Given the description of an element on the screen output the (x, y) to click on. 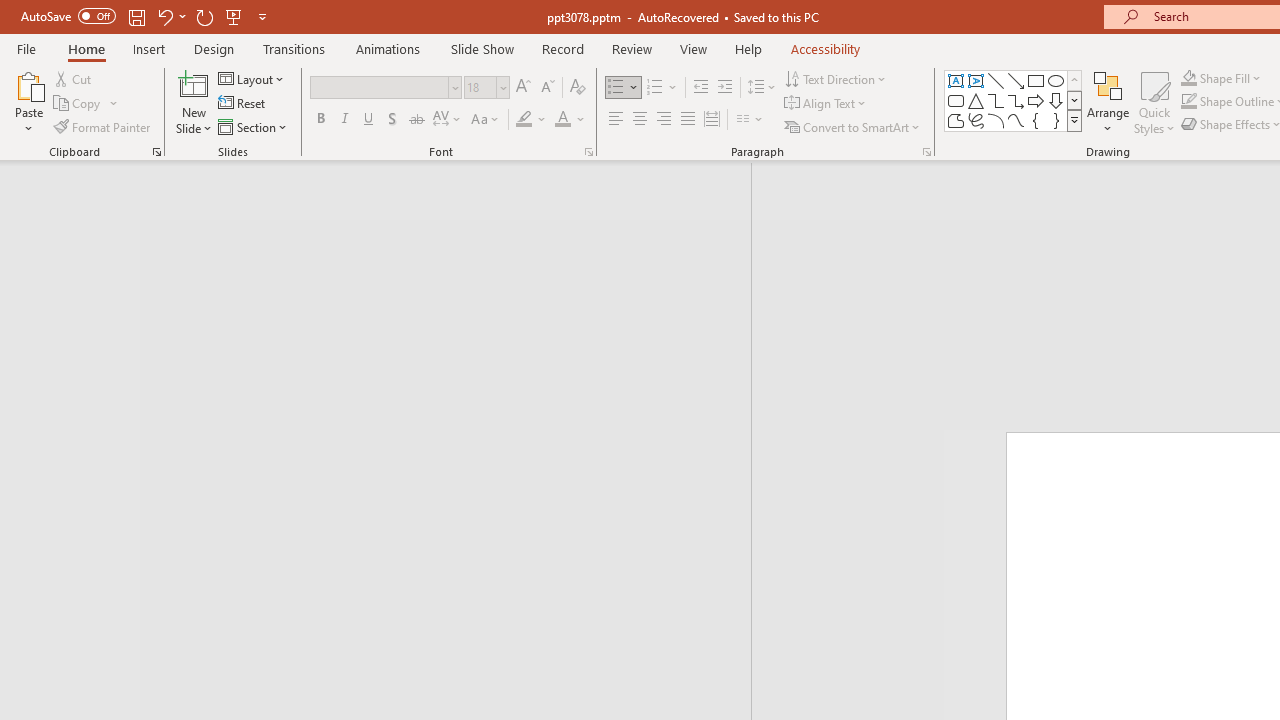
Paste (28, 84)
Text Direction (836, 78)
Row up (1074, 79)
Paragraph... (926, 151)
Format Painter (103, 126)
Text Highlight Color Yellow (524, 119)
Font Color (569, 119)
Arc (995, 120)
Connector: Elbow (995, 100)
Change Case (486, 119)
Isosceles Triangle (975, 100)
